Given the description of an element on the screen output the (x, y) to click on. 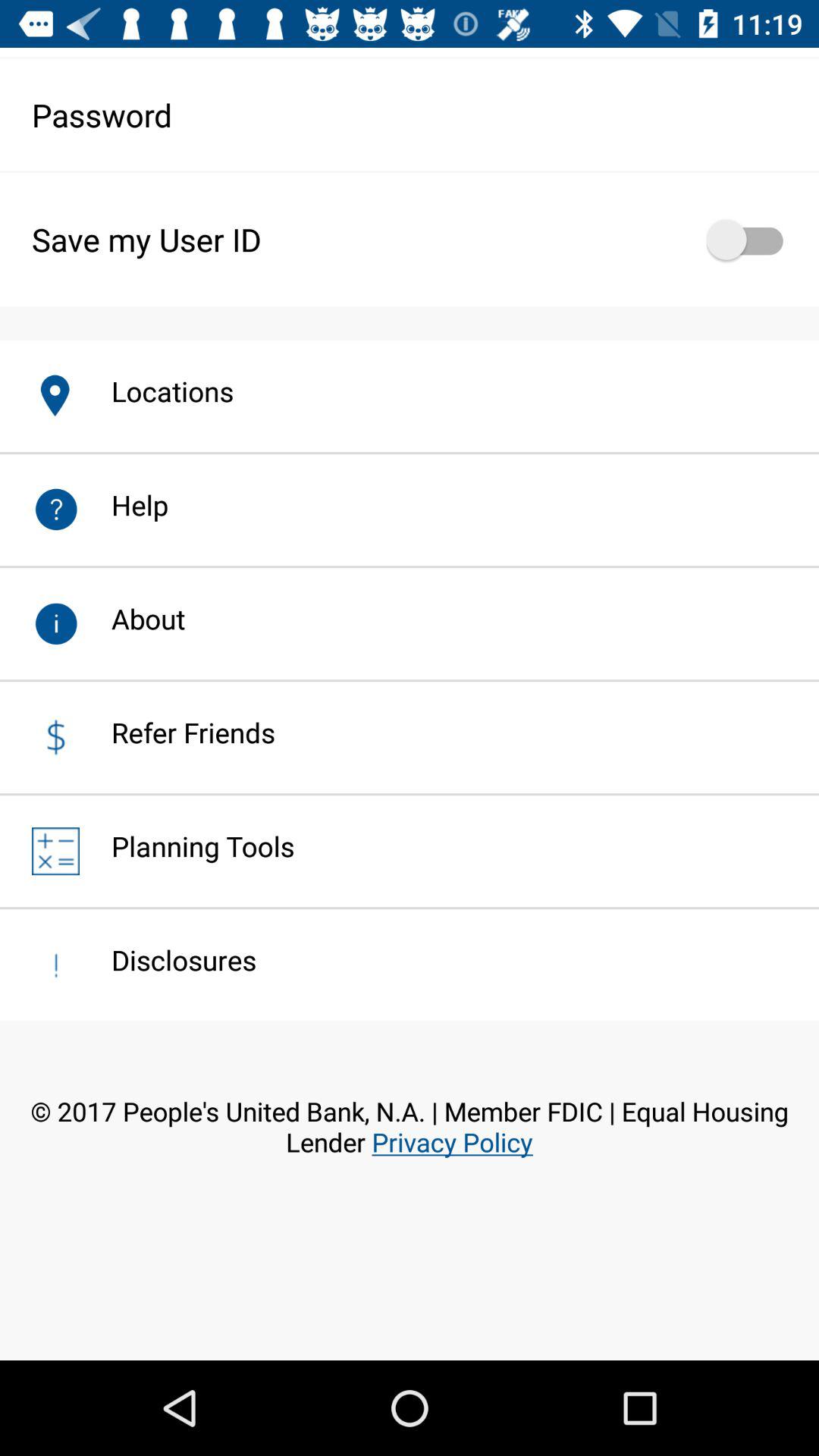
click the 2017 people s item (409, 1151)
